Given the description of an element on the screen output the (x, y) to click on. 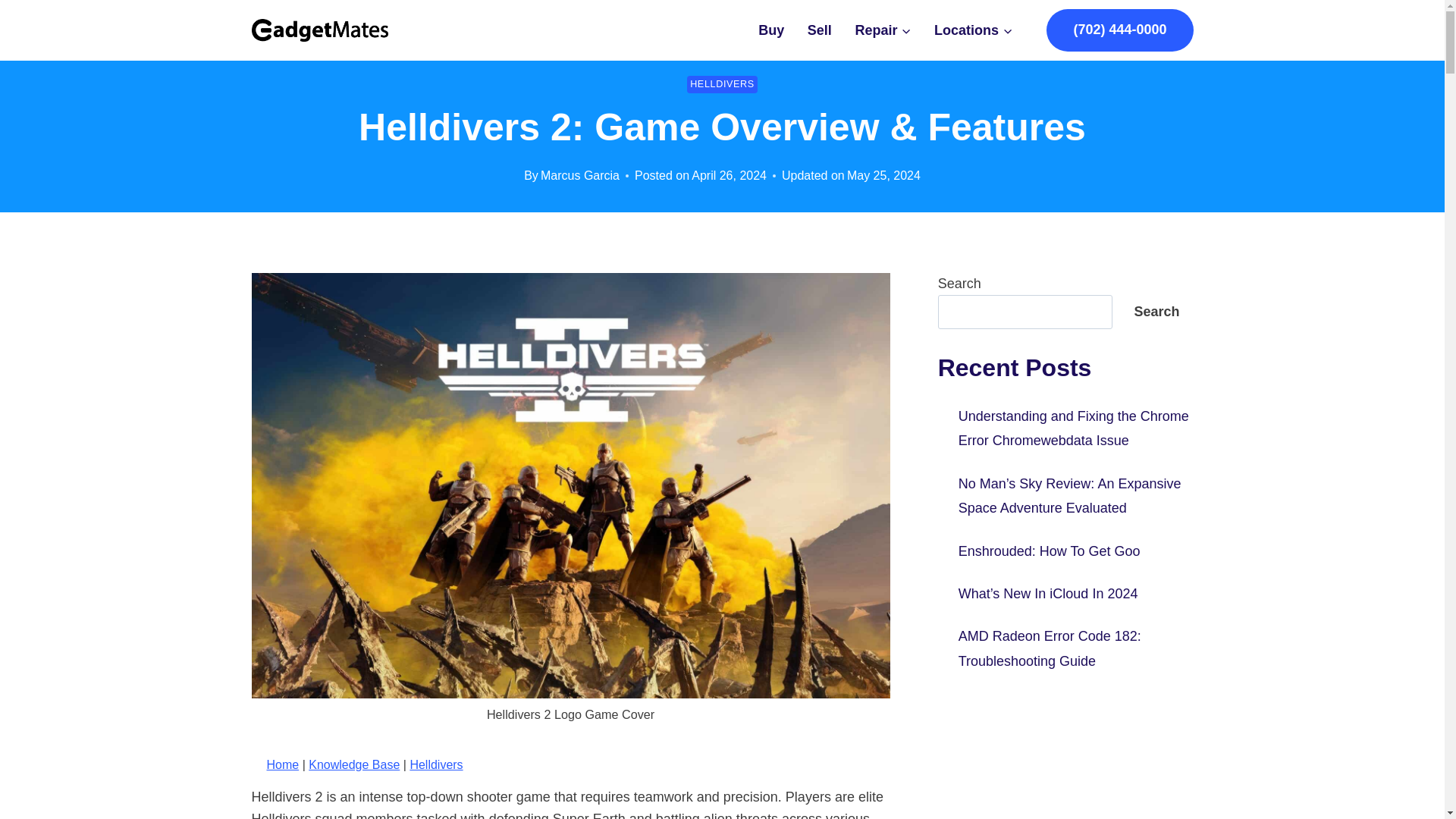
Buy (771, 30)
Marcus Garcia (580, 174)
Repair (883, 30)
Helldivers (436, 764)
HELLDIVERS (722, 84)
Locations (974, 30)
Sell (820, 30)
Knowledge Base (353, 764)
Home (282, 764)
